Given the description of an element on the screen output the (x, y) to click on. 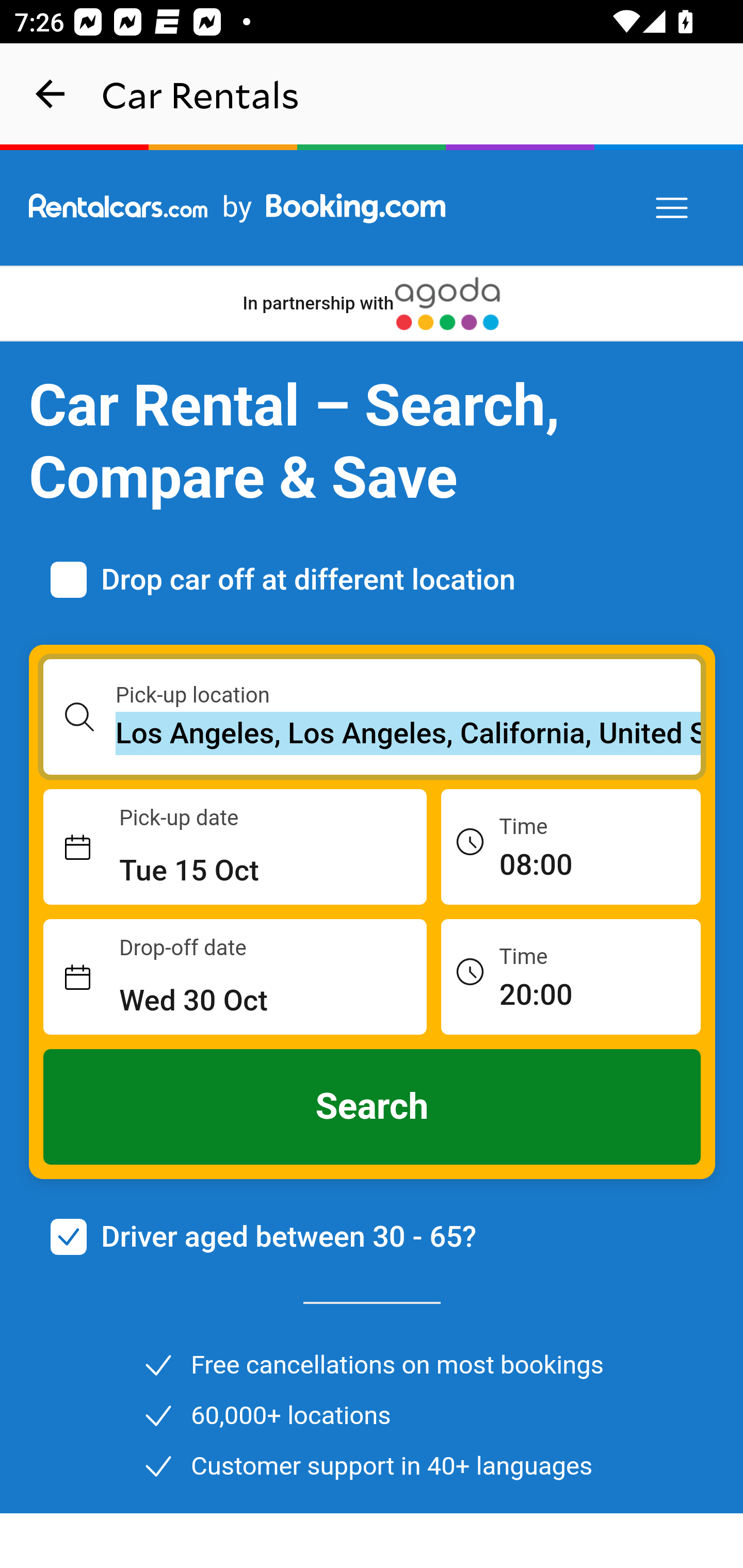
navigation_button (50, 93)
Menu (672, 208)
Pick-up date Tue 15 Oct (235, 847)
08:00 (571, 845)
Drop-off date Wed 30 Oct (235, 977)
20:00 (571, 975)
Search (372, 1106)
